Given the description of an element on the screen output the (x, y) to click on. 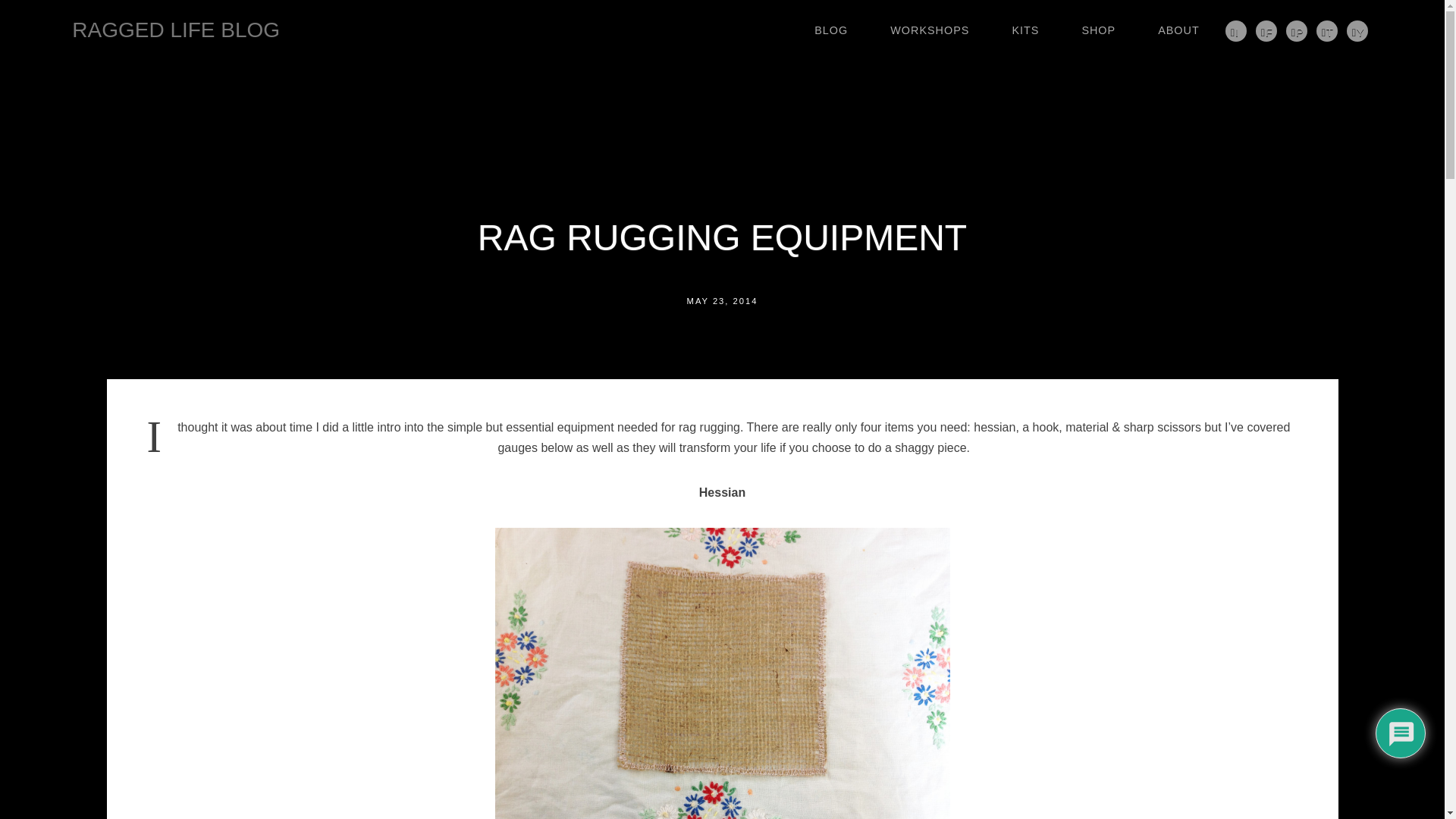
BLOG (831, 30)
Ragged Life Blog (175, 29)
MAY 23, 2014 (722, 300)
YOUTUBE (1357, 30)
INSTAGRAM (1235, 30)
PINTEREST (1296, 30)
KITS (1024, 30)
RAGGED LIFE BLOG (175, 29)
FACEBOOK (1265, 30)
TWITTER (1327, 30)
ABOUT (1179, 30)
SHOP (1098, 30)
WORKSHOPS (929, 30)
12:01 pm (722, 300)
